Given the description of an element on the screen output the (x, y) to click on. 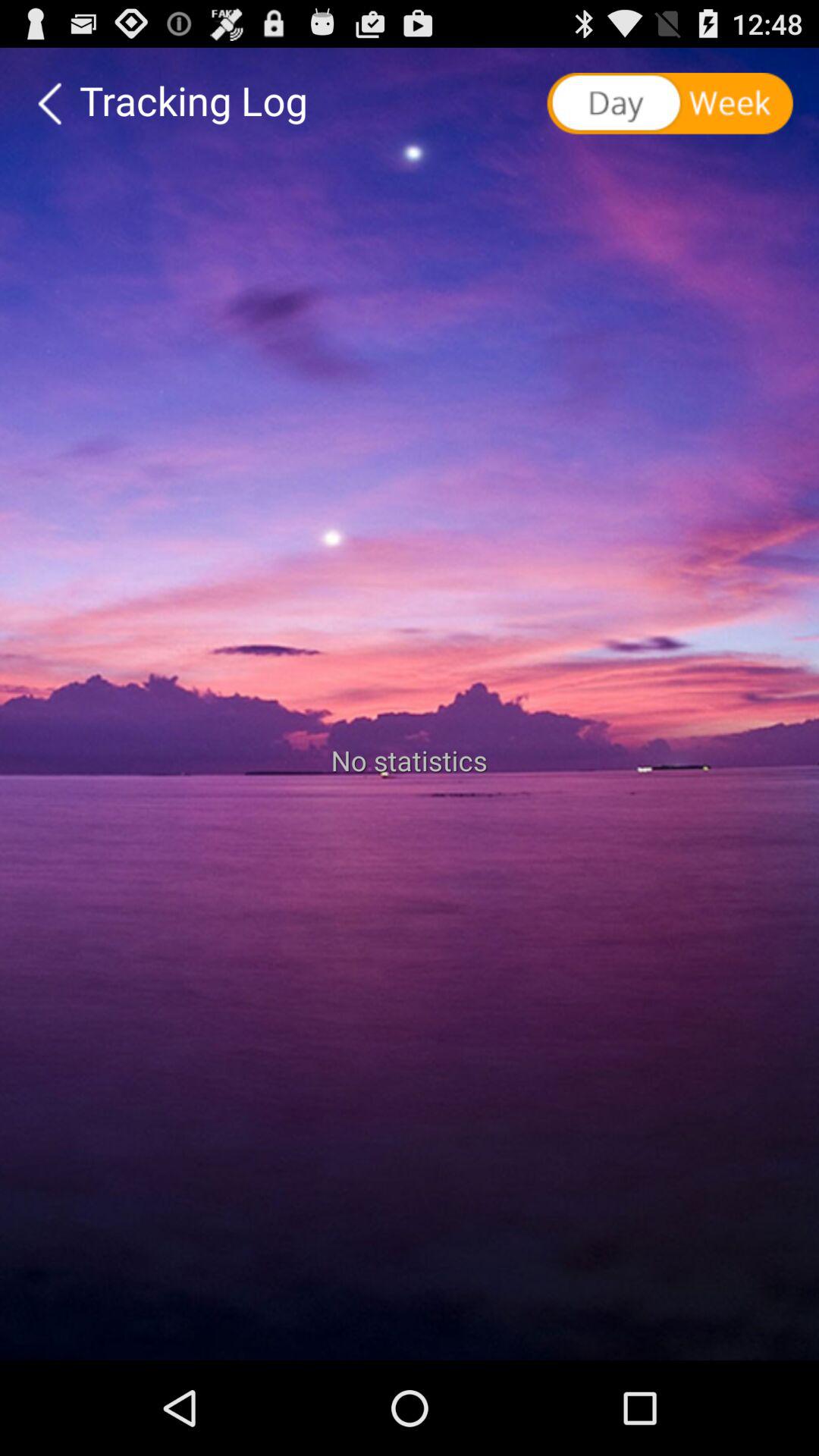
tag the day or week (672, 103)
